Given the description of an element on the screen output the (x, y) to click on. 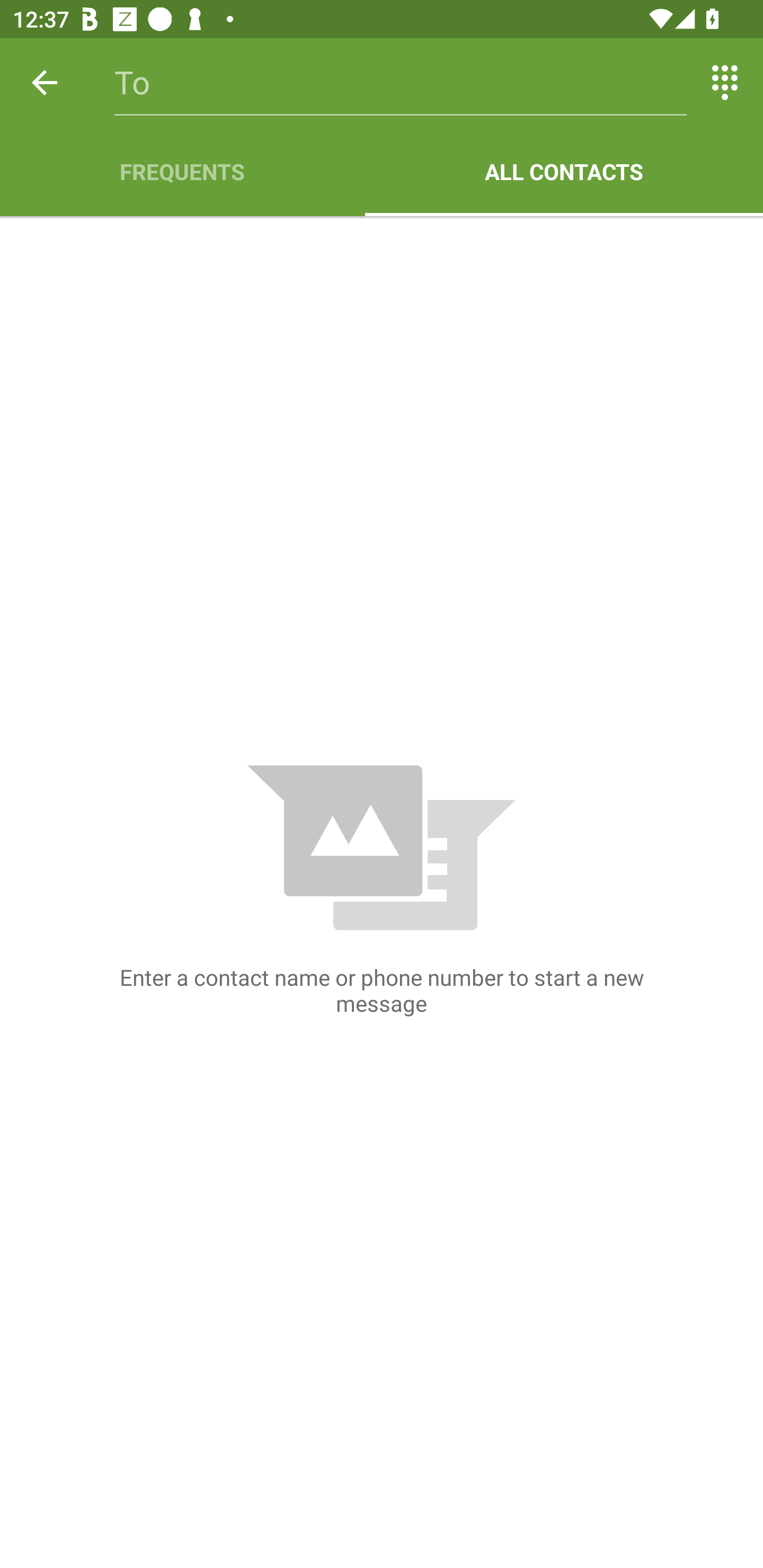
Back (44, 82)
Switch between entering text and numbers (724, 81)
To (400, 82)
FREQUENTS (182, 171)
ALL CONTACTS (563, 171)
